Given the description of an element on the screen output the (x, y) to click on. 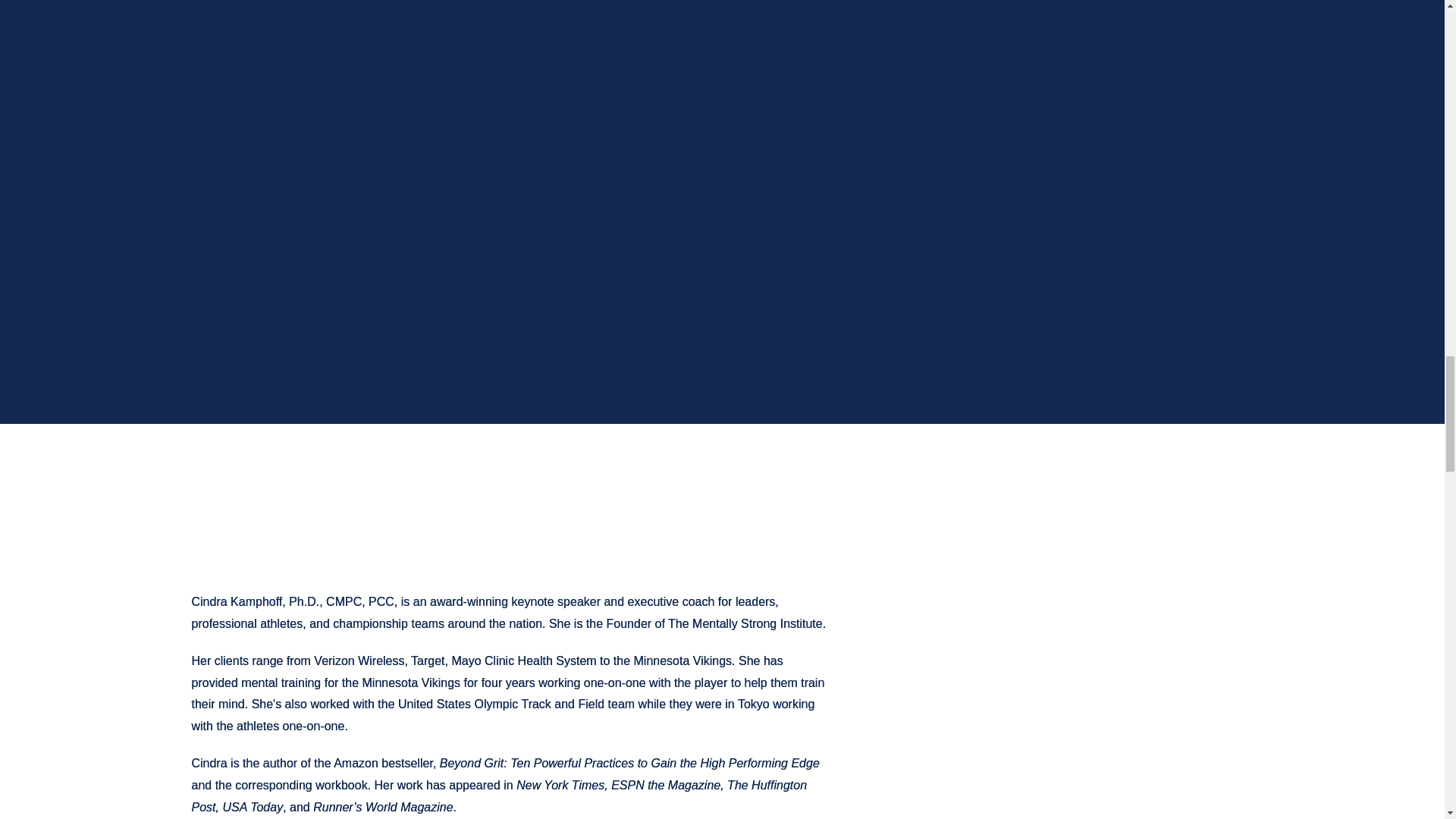
bookk (397, 294)
